Given the description of an element on the screen output the (x, y) to click on. 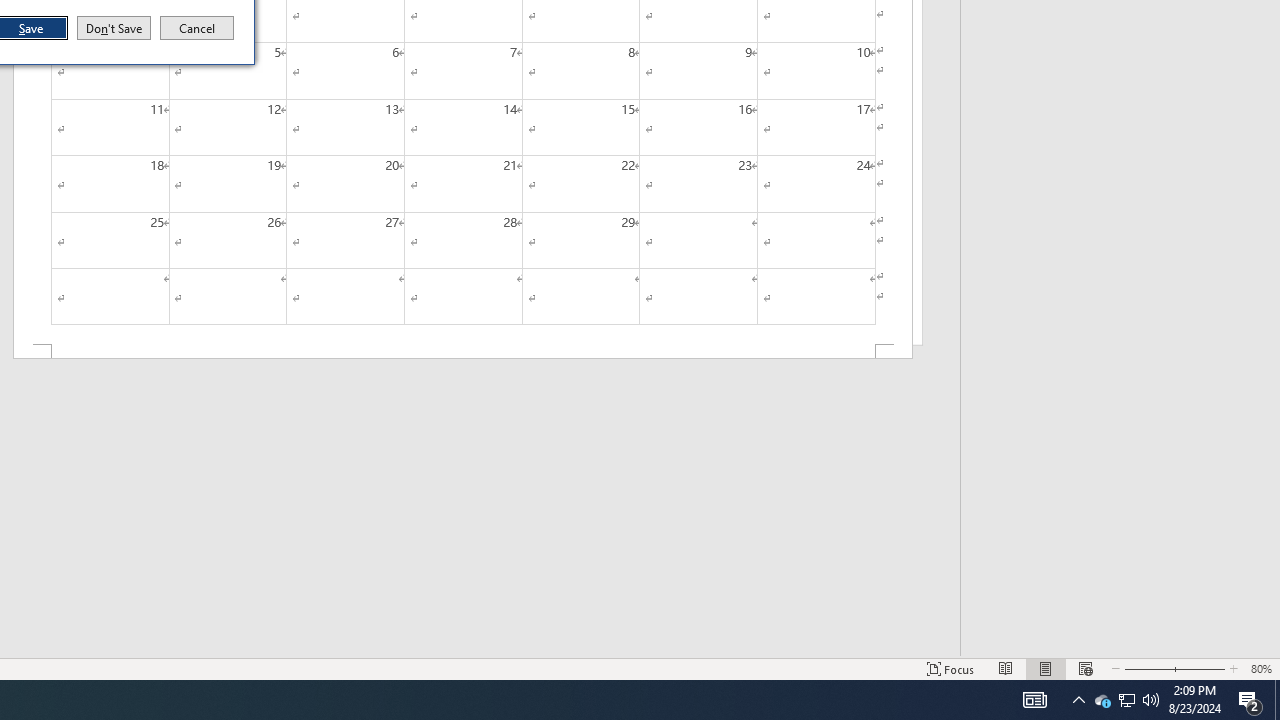
AutomationID: 4105 (1126, 699)
Show desktop (1034, 699)
Notification Chevron (1277, 699)
Action Center, 2 new notifications (1078, 699)
